Given the description of an element on the screen output the (x, y) to click on. 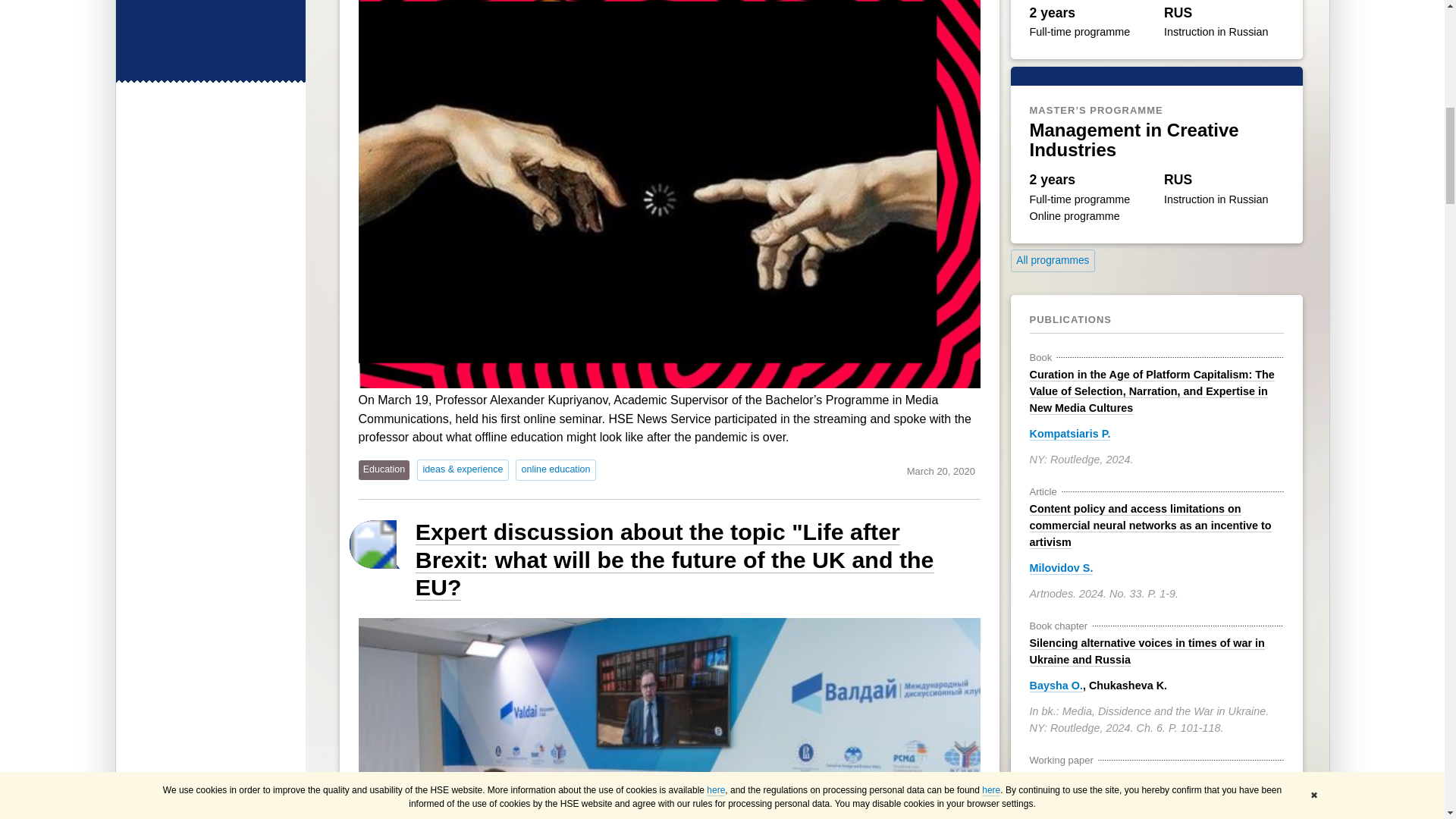
online education (555, 470)
